Given the description of an element on the screen output the (x, y) to click on. 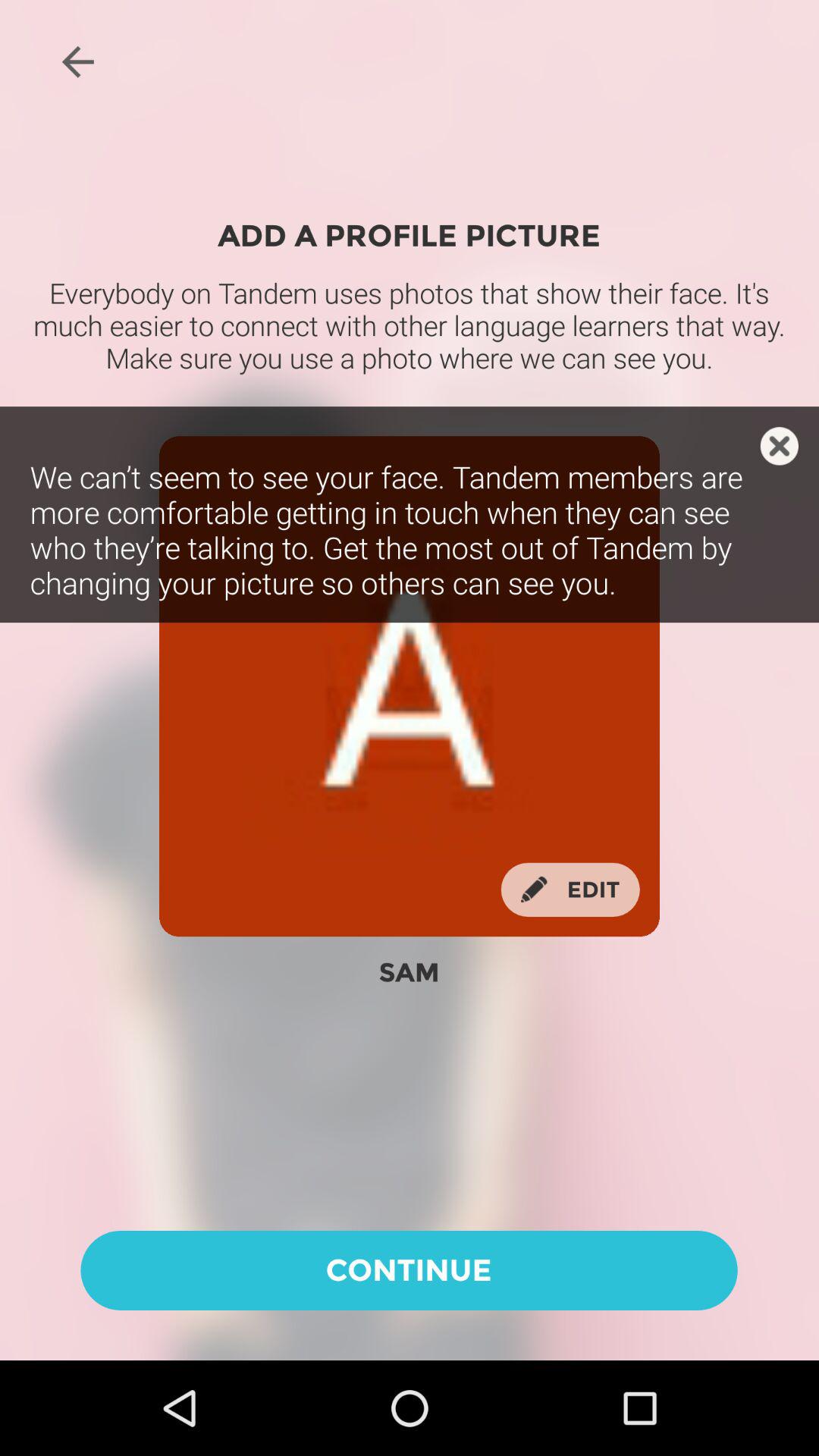
open the icon below sam (408, 1270)
